Given the description of an element on the screen output the (x, y) to click on. 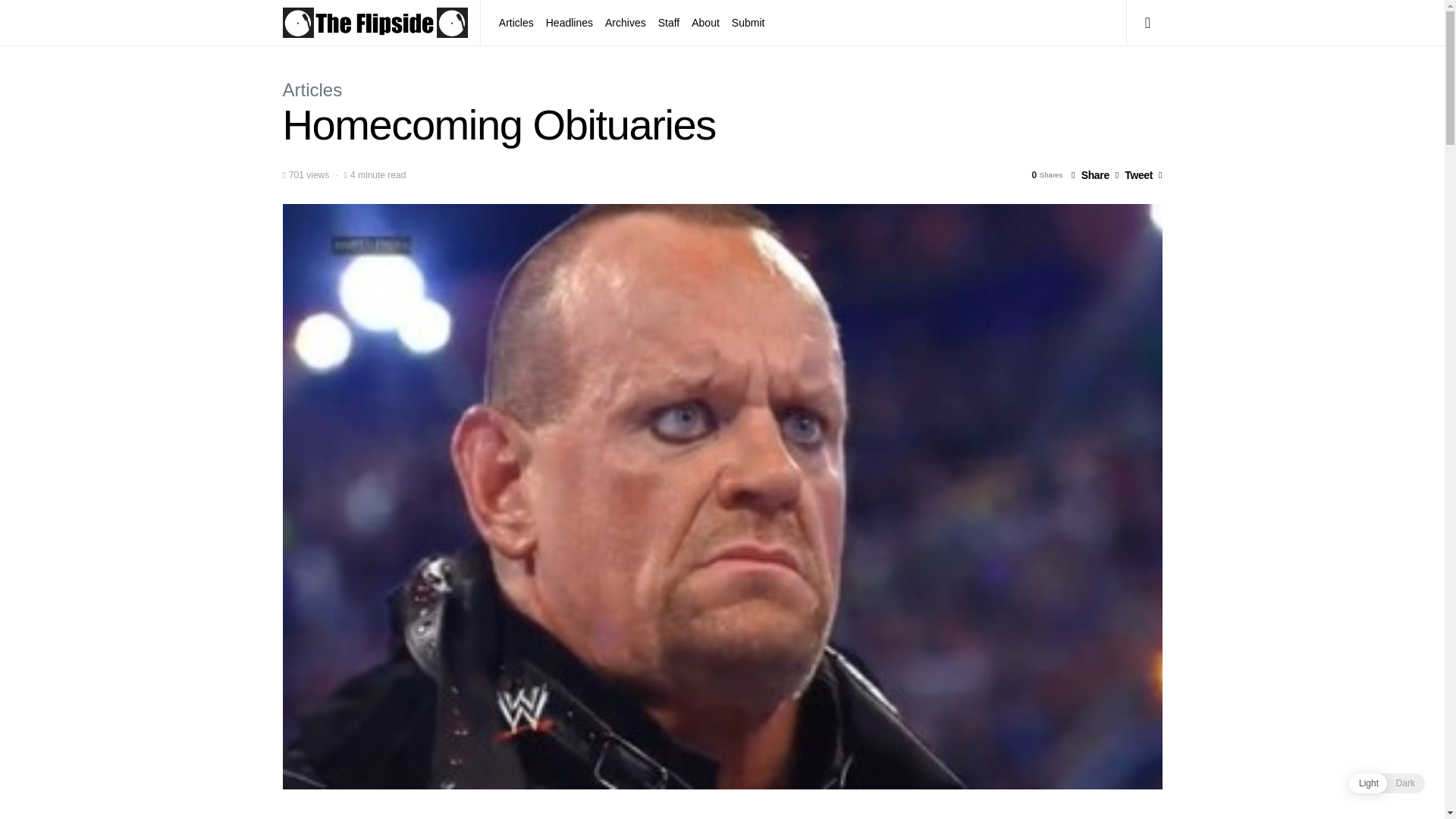
Articles (519, 22)
Tweet (1134, 175)
Articles (312, 89)
Archives (625, 22)
Share (1090, 175)
Headlines (569, 22)
